Given the description of an element on the screen output the (x, y) to click on. 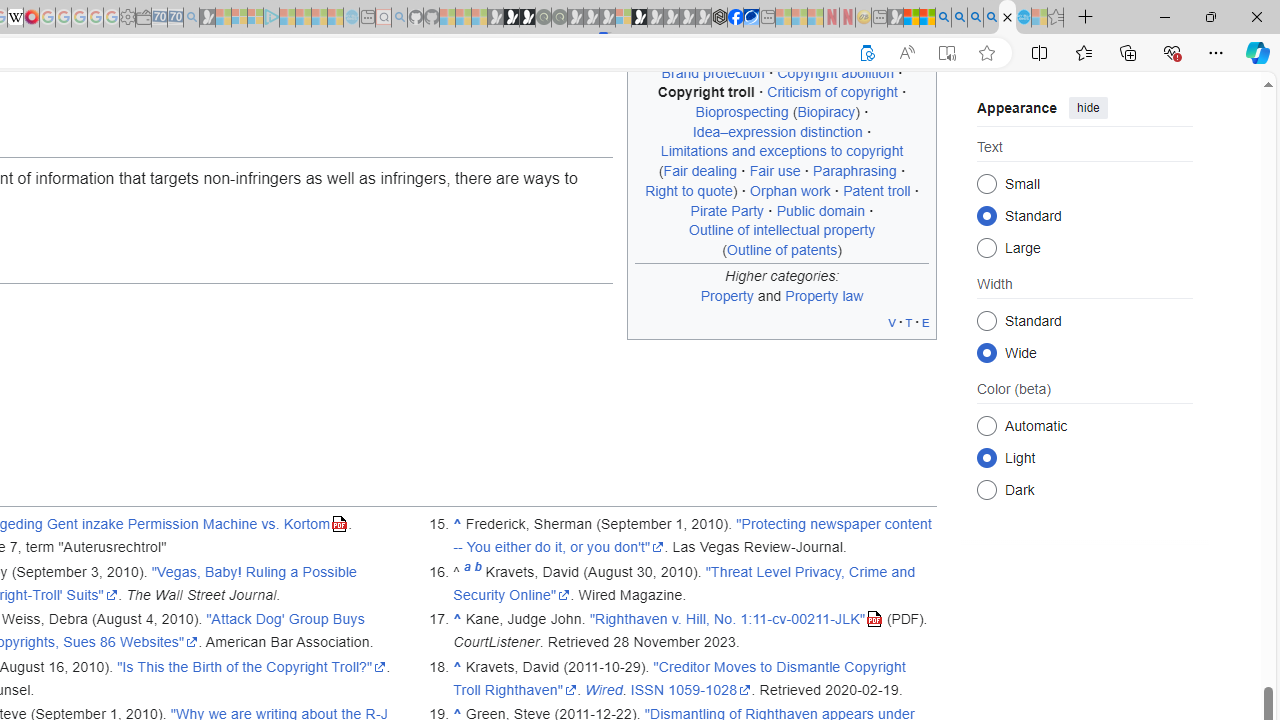
v (892, 322)
Settings - Sleeping (127, 17)
Jump up (457, 666)
Automatic (986, 425)
Nordace | Facebook (735, 17)
Right to quote) (691, 190)
Outline of patents (781, 249)
Sign in to your account - Sleeping (623, 17)
Bing AI - Search (943, 17)
Wired (603, 689)
